Given the description of an element on the screen output the (x, y) to click on. 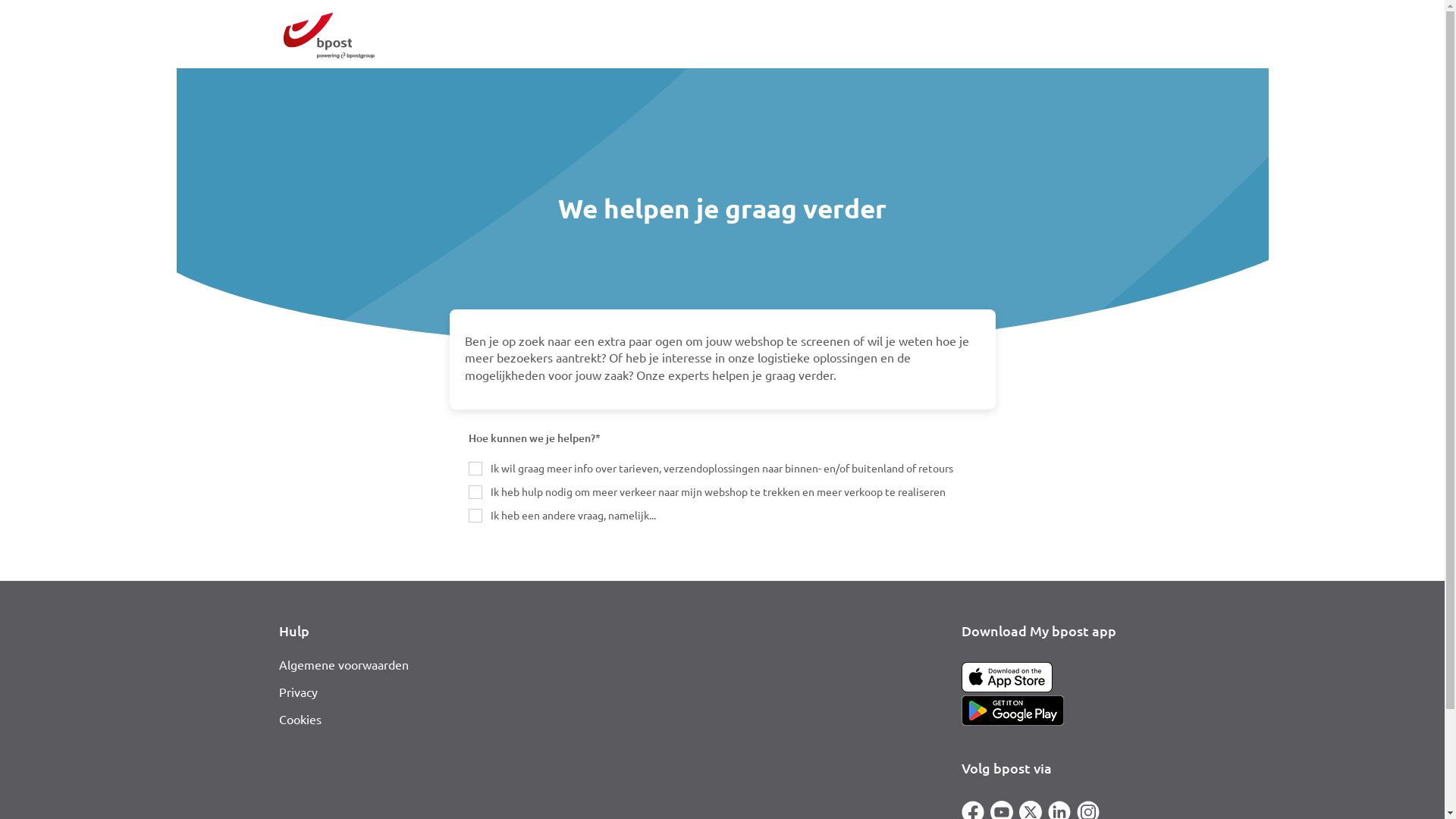
Privacy Element type: text (298, 691)
Algemene voorwaarden Element type: text (343, 663)
Cookies Element type: text (300, 718)
